Given the description of an element on the screen output the (x, y) to click on. 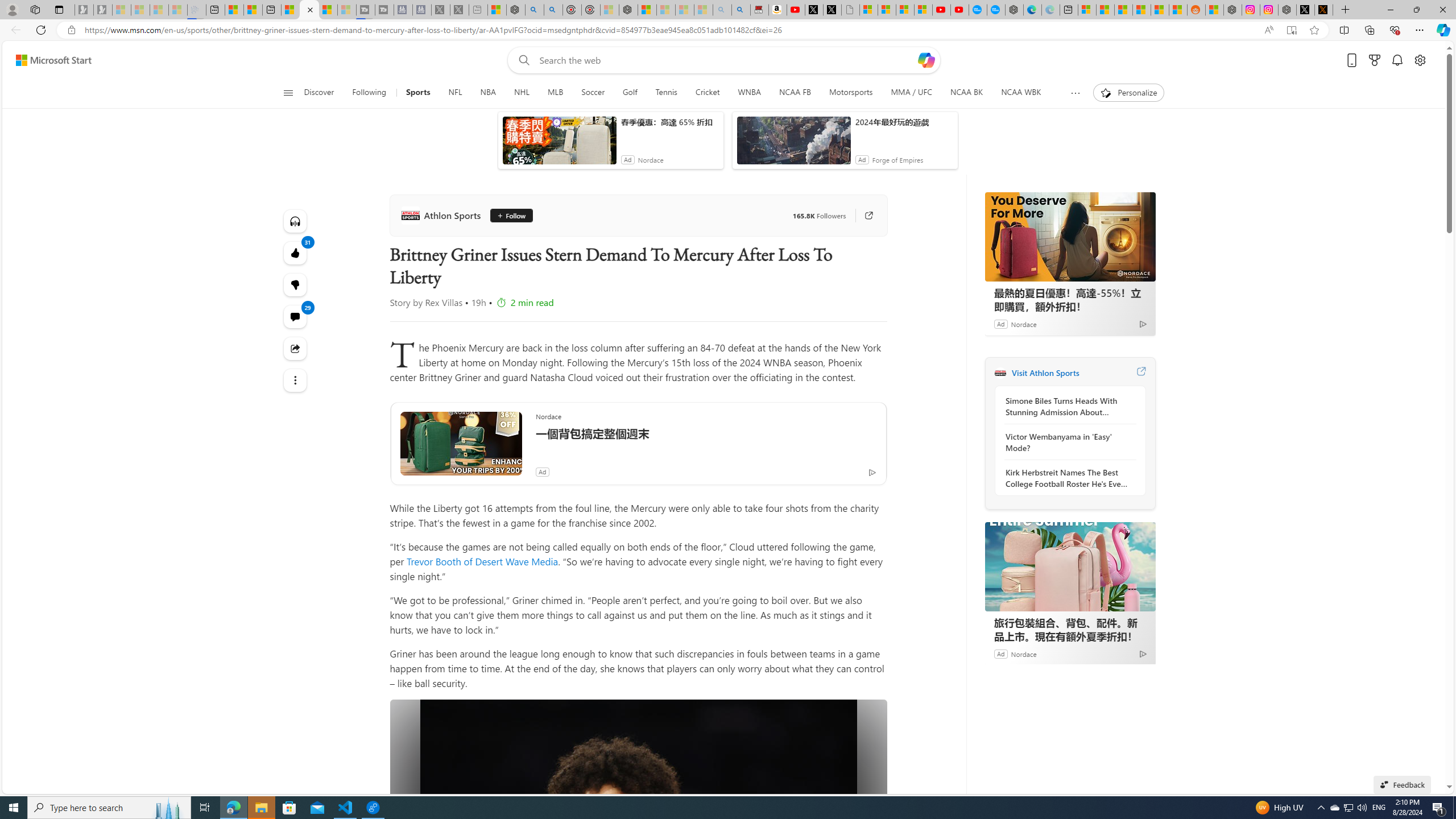
Wildlife - MSN (497, 9)
Copilot (Ctrl+Shift+.) (1442, 29)
help.x.com | 524: A timeout occurred (1324, 9)
Athlon Sports (443, 215)
Back (13, 29)
anim-content (793, 144)
Nordace (@NordaceOfficial) / X (1305, 9)
Forge of Empires (897, 159)
poe - Search (533, 9)
Collections (1369, 29)
